Given the description of an element on the screen output the (x, y) to click on. 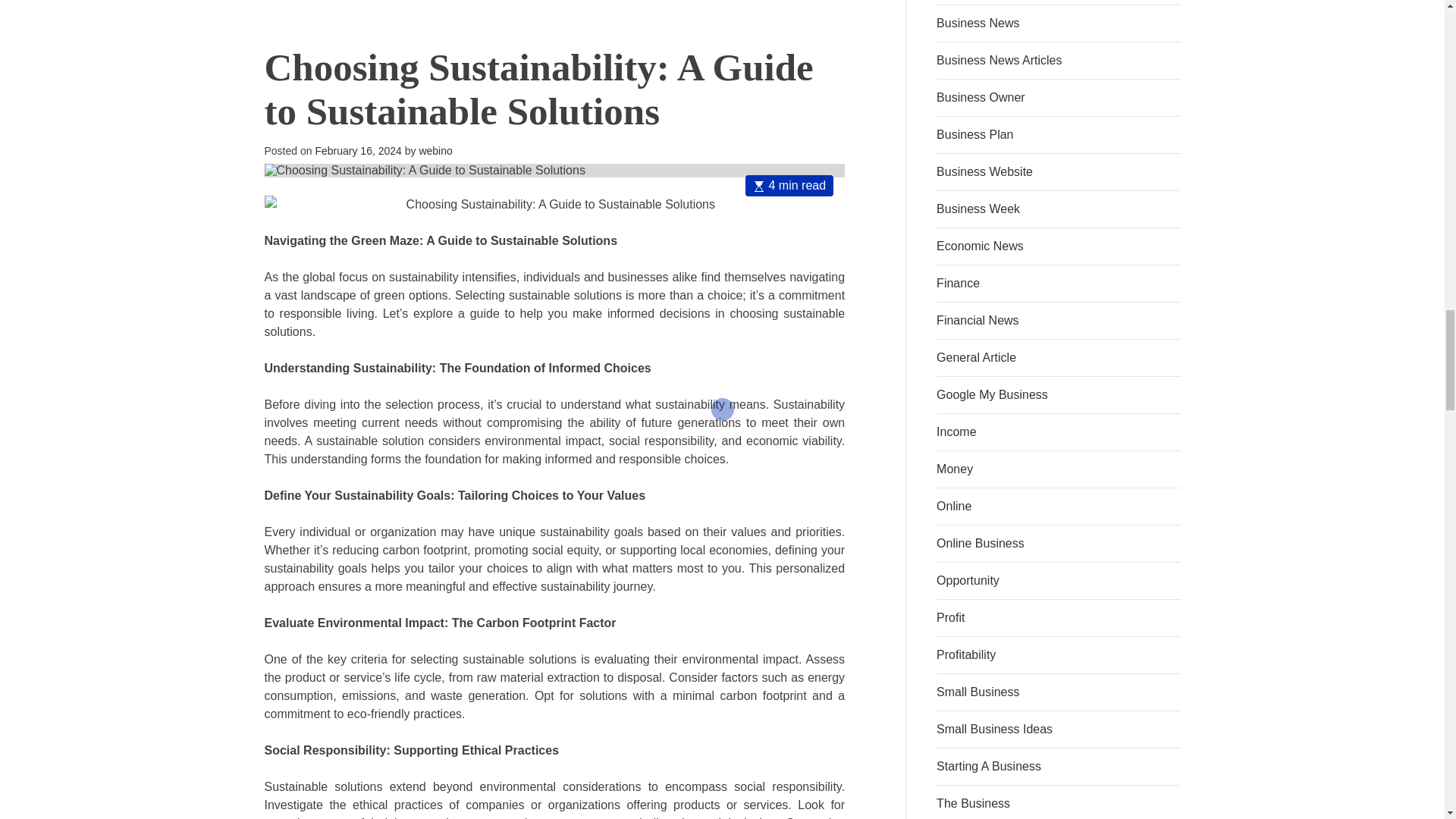
An In-depth Exploration of Background and Themes (752, 246)
Revitalize Your Ranch Contemporary Kitchen Redesign (752, 9)
Expert Turnkey Home Builders Your Key to Dream Homes (554, 9)
Compact Workspace Small Office Interior Inspirations (356, 9)
